Given the description of an element on the screen output the (x, y) to click on. 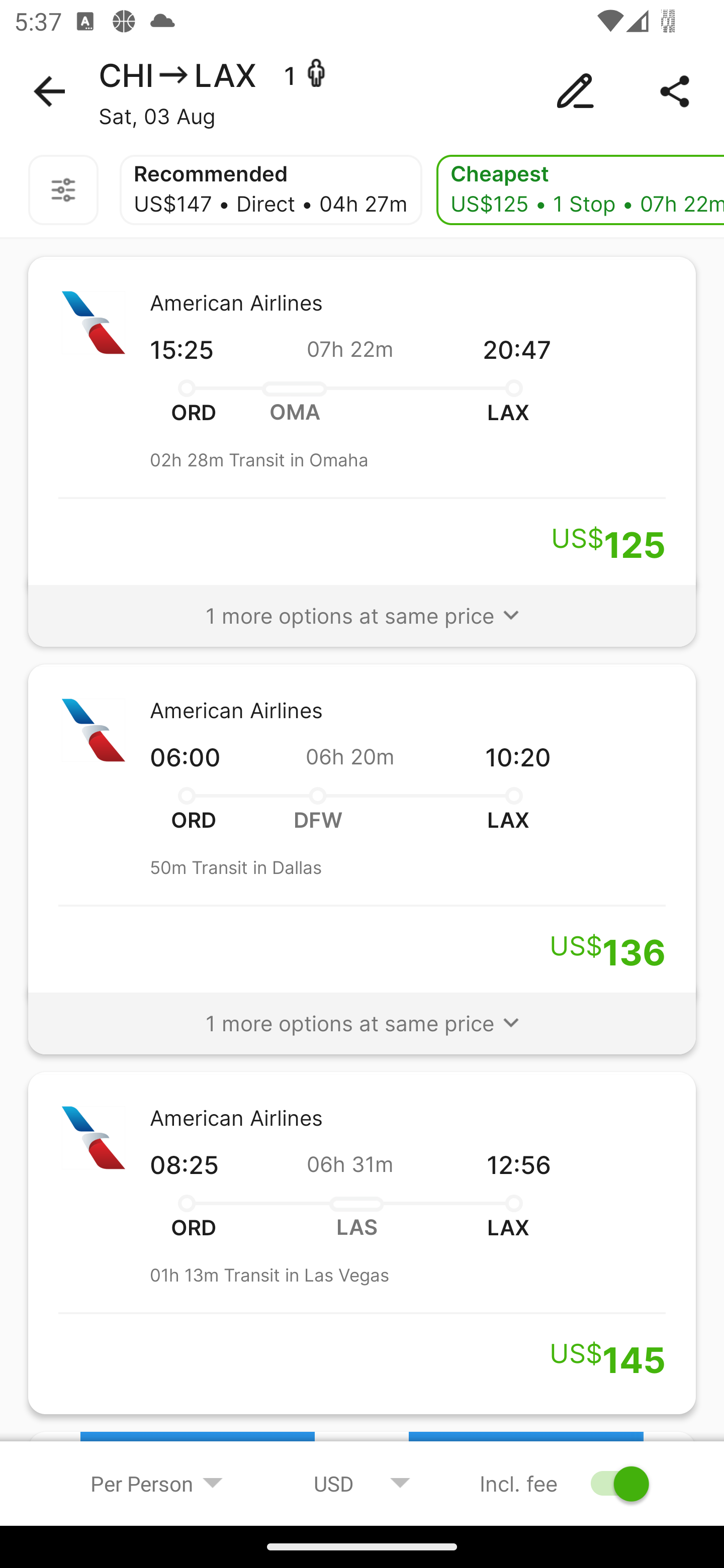
CHI LAX   1 - Sat, 03 Aug (361, 91)
Recommended  US$147 • Direct • 04h 27m (270, 190)
Cheapest US$125 • 1 Stop • 07h 22m (580, 190)
1 more options at same price (361, 606)
1 more options at same price (361, 1014)
Per Person (156, 1482)
USD (361, 1482)
